Given the description of an element on the screen output the (x, y) to click on. 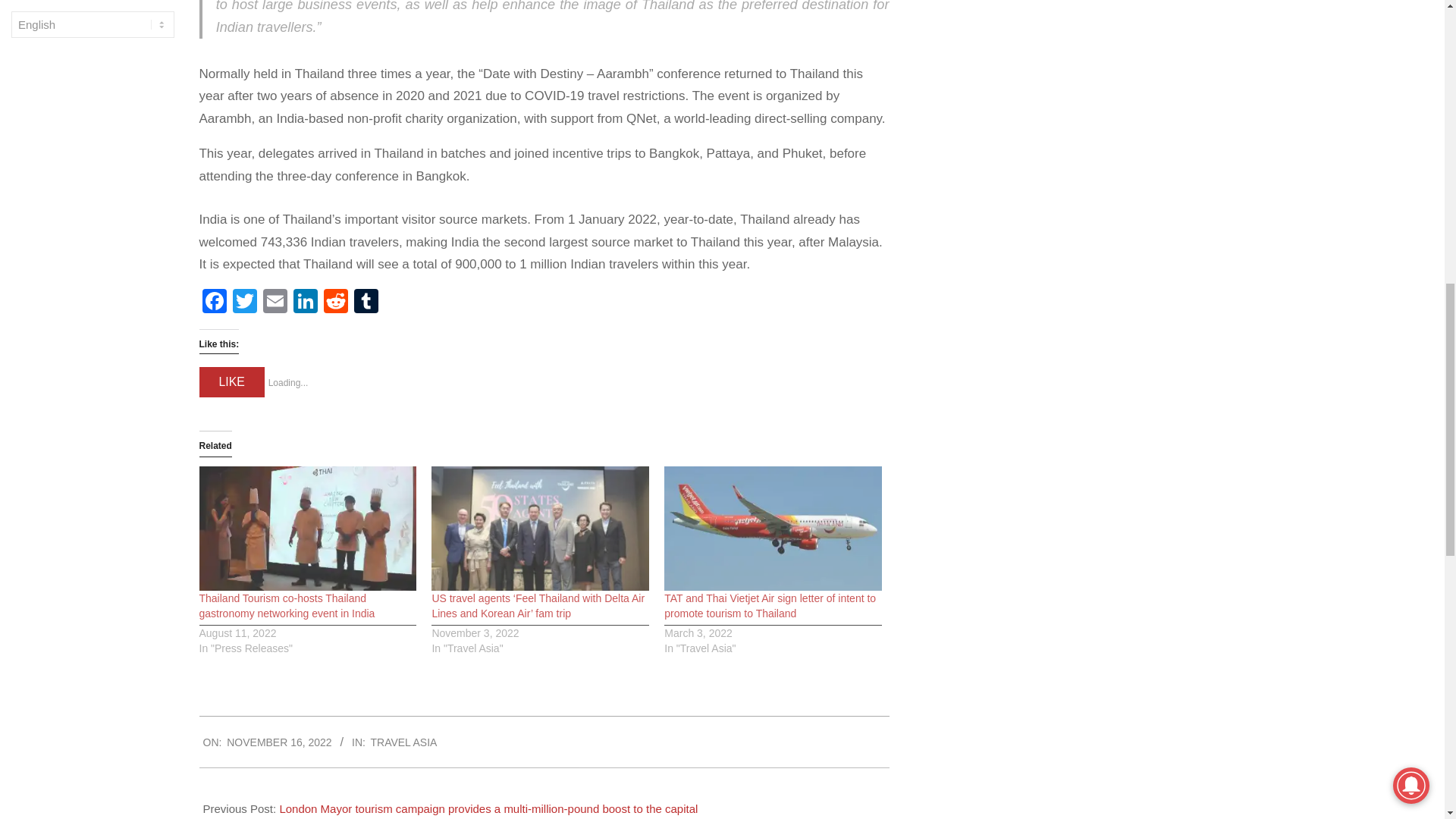
Wednesday, November 16, 2022, 7:57 pm (279, 742)
Facebook (213, 302)
Tumblr (365, 302)
Tumblr (365, 302)
Twitter (243, 302)
Reddit (335, 302)
Facebook (213, 302)
LinkedIn (304, 302)
LinkedIn (304, 302)
Email (274, 302)
Reddit (335, 302)
Email (274, 302)
